Given the description of an element on the screen output the (x, y) to click on. 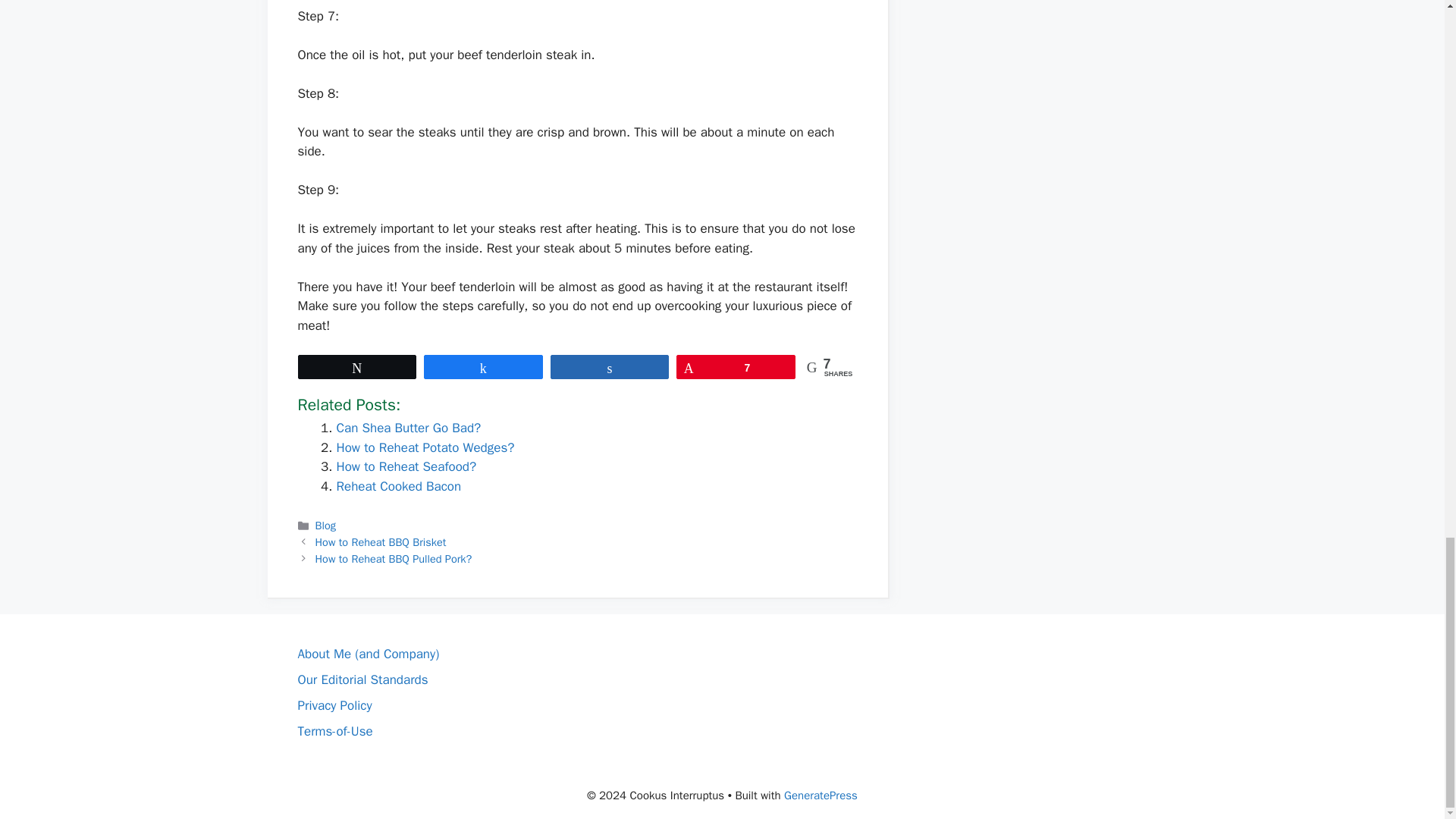
How to Reheat Seafood? (406, 466)
How to Reheat BBQ Pulled Pork? (393, 558)
Privacy Policy (334, 705)
Reheat Cooked Bacon (398, 486)
How to Reheat Seafood? (406, 466)
Can Shea Butter Go Bad? (408, 427)
GeneratePress (820, 795)
How to Reheat Potato Wedges? (425, 447)
Blog (325, 525)
Previous (380, 541)
How to Reheat BBQ Brisket (380, 541)
Terms-of-Use (334, 731)
Reheat Cooked Bacon (398, 486)
How to Reheat Potato Wedges? (425, 447)
Can Shea Butter Go Bad? (408, 427)
